Given the description of an element on the screen output the (x, y) to click on. 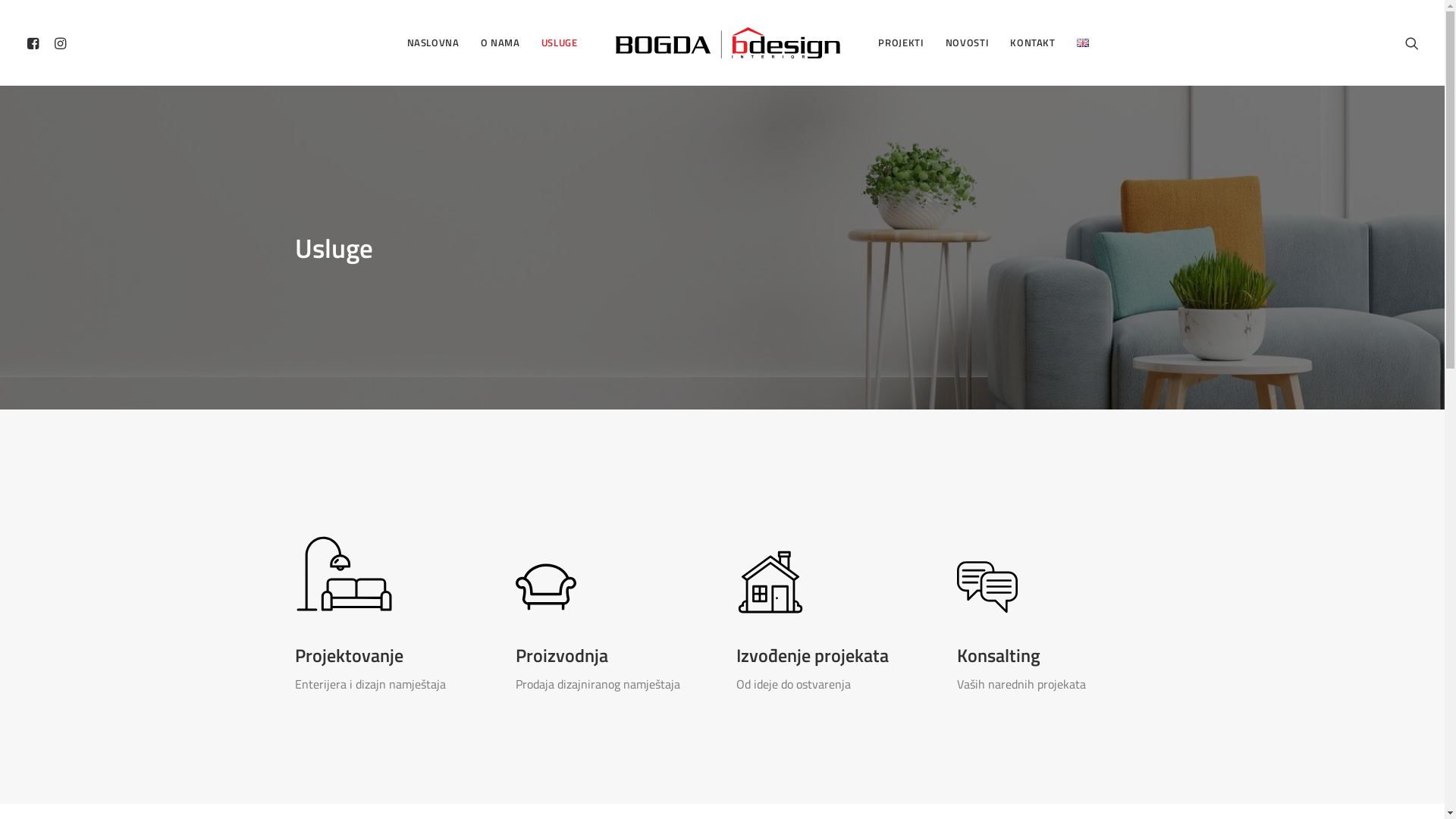
KONTAKT Element type: text (1032, 42)
USLUGE Element type: text (559, 42)
PROJEKTI Element type: text (900, 42)
NOVOSTI Element type: text (967, 42)
O NAMA Element type: text (500, 42)
NASLOVNA Element type: text (432, 42)
